Given the description of an element on the screen output the (x, y) to click on. 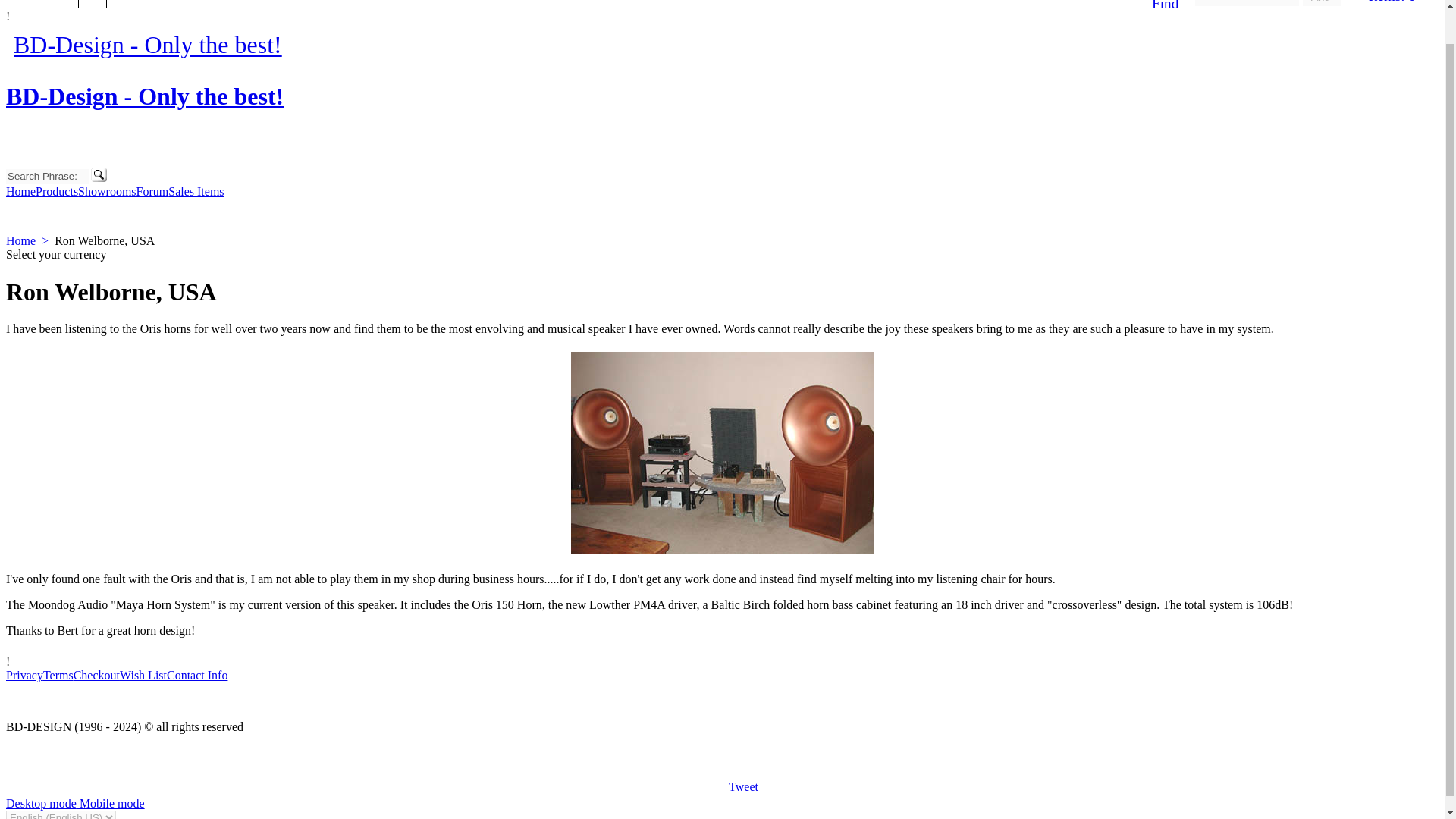
Search (98, 174)
Search Phrase: (46, 175)
Showrooms (106, 191)
Sales Items (196, 191)
Home  (19, 191)
Select your currency (55, 254)
Forum (152, 191)
Find (1164, 11)
Products (56, 191)
Showrooms (106, 191)
